Given the description of an element on the screen output the (x, y) to click on. 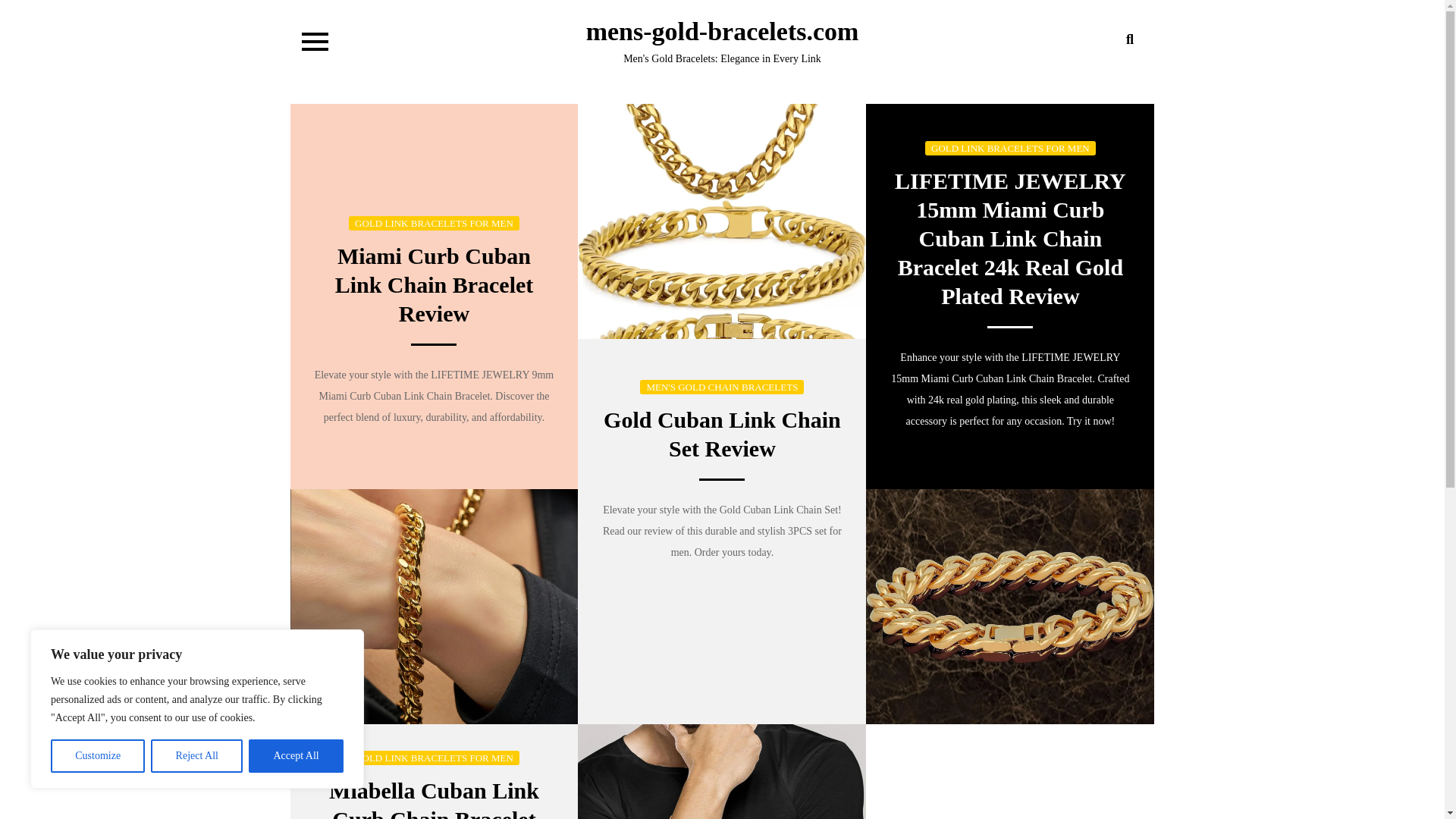
Accept All (295, 756)
Gold Cuban Link Chain Set Review (722, 434)
Customize (97, 756)
Reject All (197, 756)
Miami Curb Cuban Link Chain Bracelet Review (434, 284)
GOLD LINK BRACELETS FOR MEN (434, 223)
MEN'S GOLD CHAIN BRACELETS (721, 386)
mens-gold-bracelets.com (722, 31)
